Given the description of an element on the screen output the (x, y) to click on. 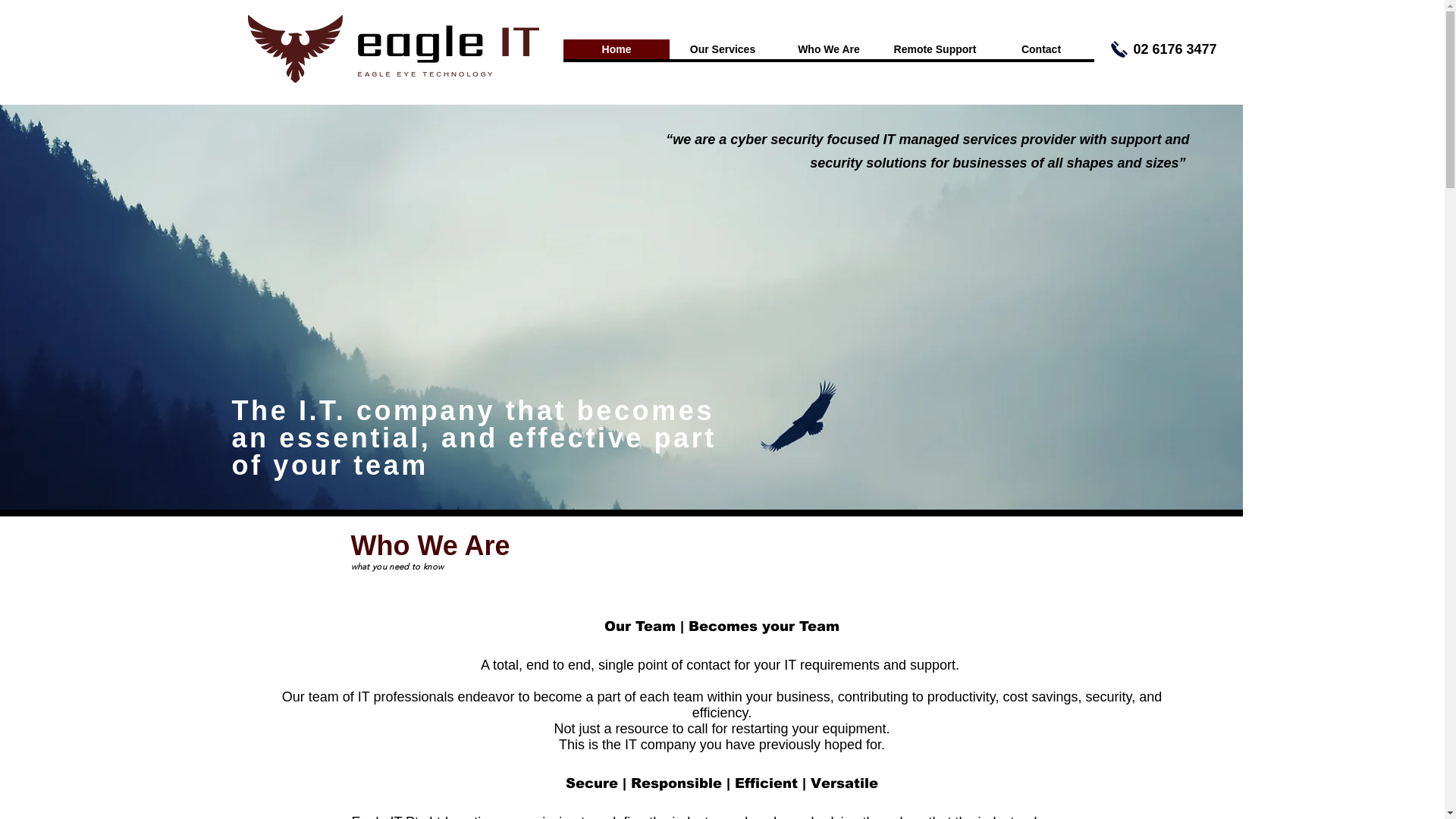
Who We Are Element type: text (828, 49)
Our Services Element type: text (721, 49)
Remote Support Element type: text (934, 49)
Contact Element type: text (1040, 49)
Home Element type: text (615, 49)
